Given the description of an element on the screen output the (x, y) to click on. 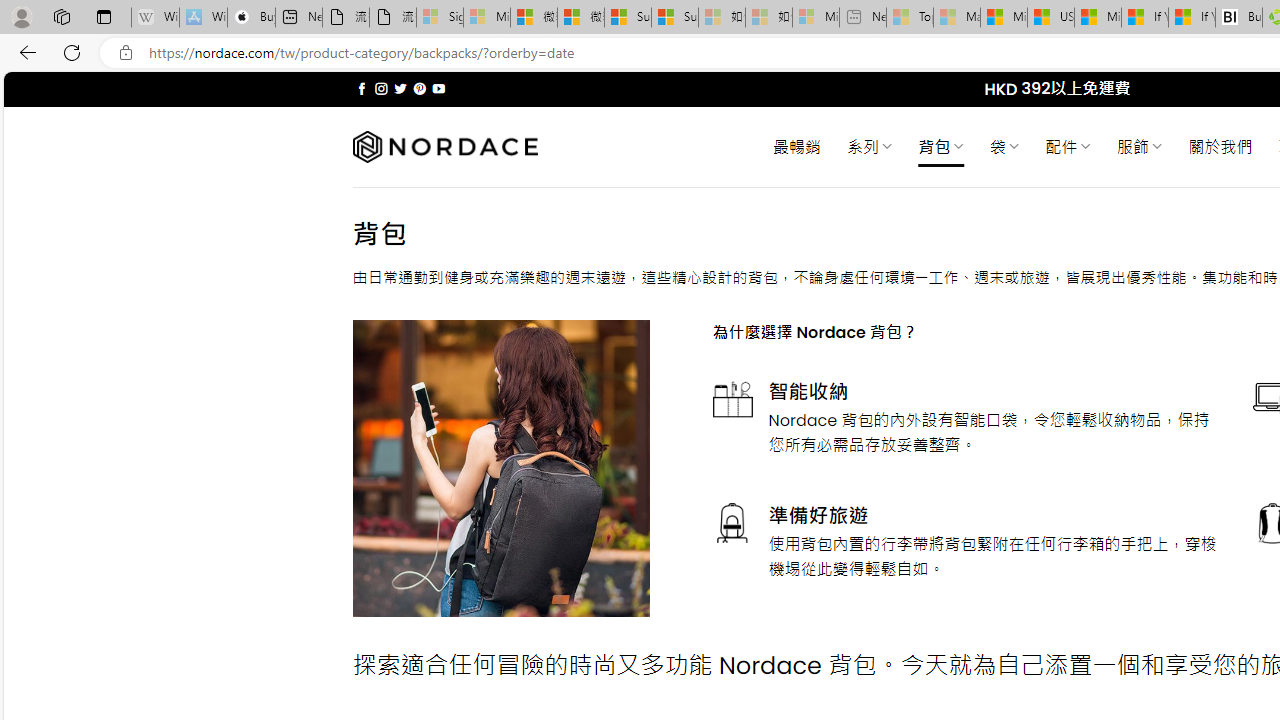
Follow on Twitter (400, 88)
Follow on Instagram (381, 88)
Marine life - MSN - Sleeping (957, 17)
New tab - Sleeping (862, 17)
